Given the description of an element on the screen output the (x, y) to click on. 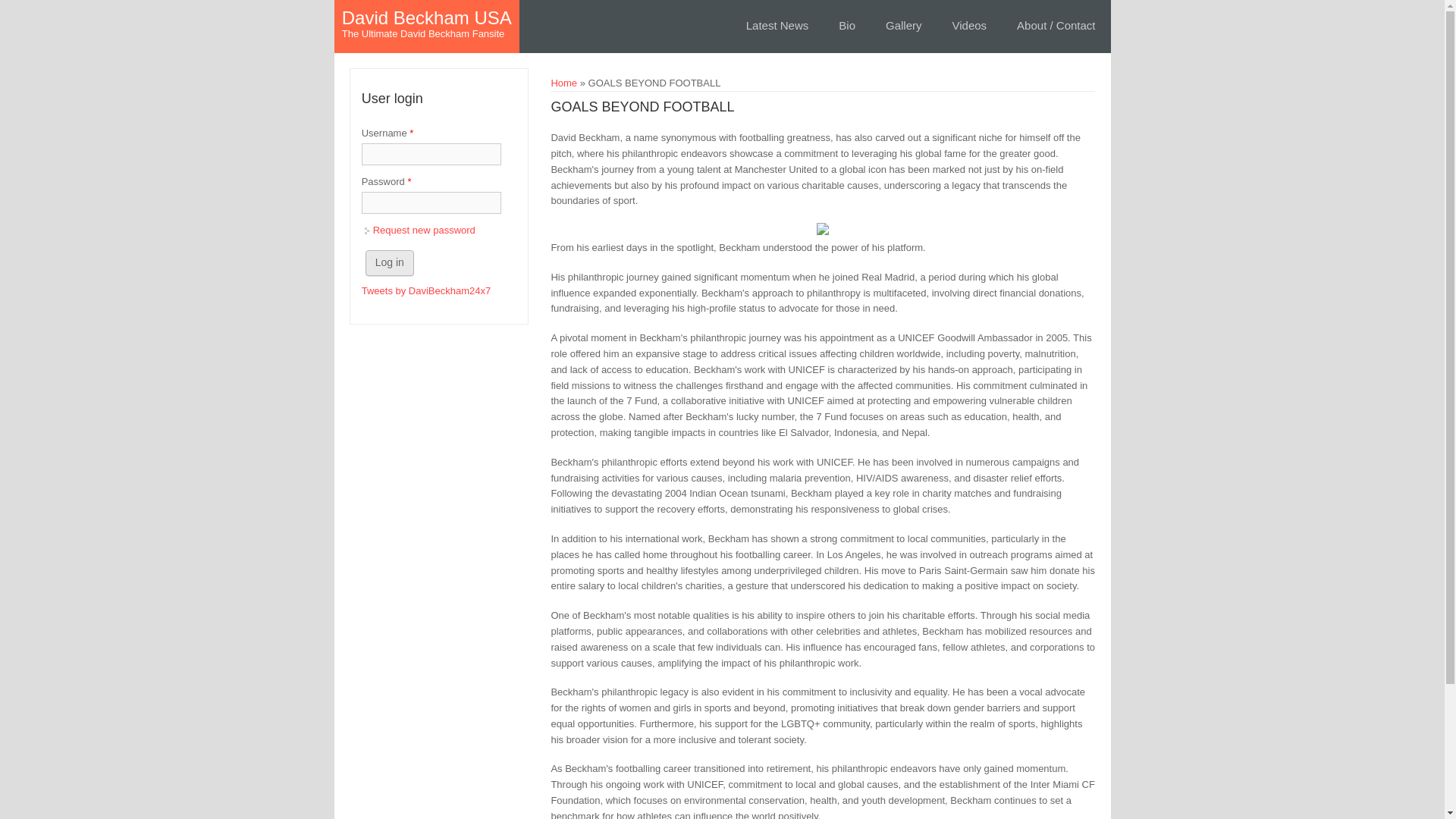
Bio (847, 26)
Home (427, 18)
Request new password (424, 229)
Tweets by DaviBeckham24x7 (426, 290)
Home (563, 82)
Log in (389, 263)
Videos (970, 26)
Log in (389, 263)
Videos (970, 26)
